Given the description of an element on the screen output the (x, y) to click on. 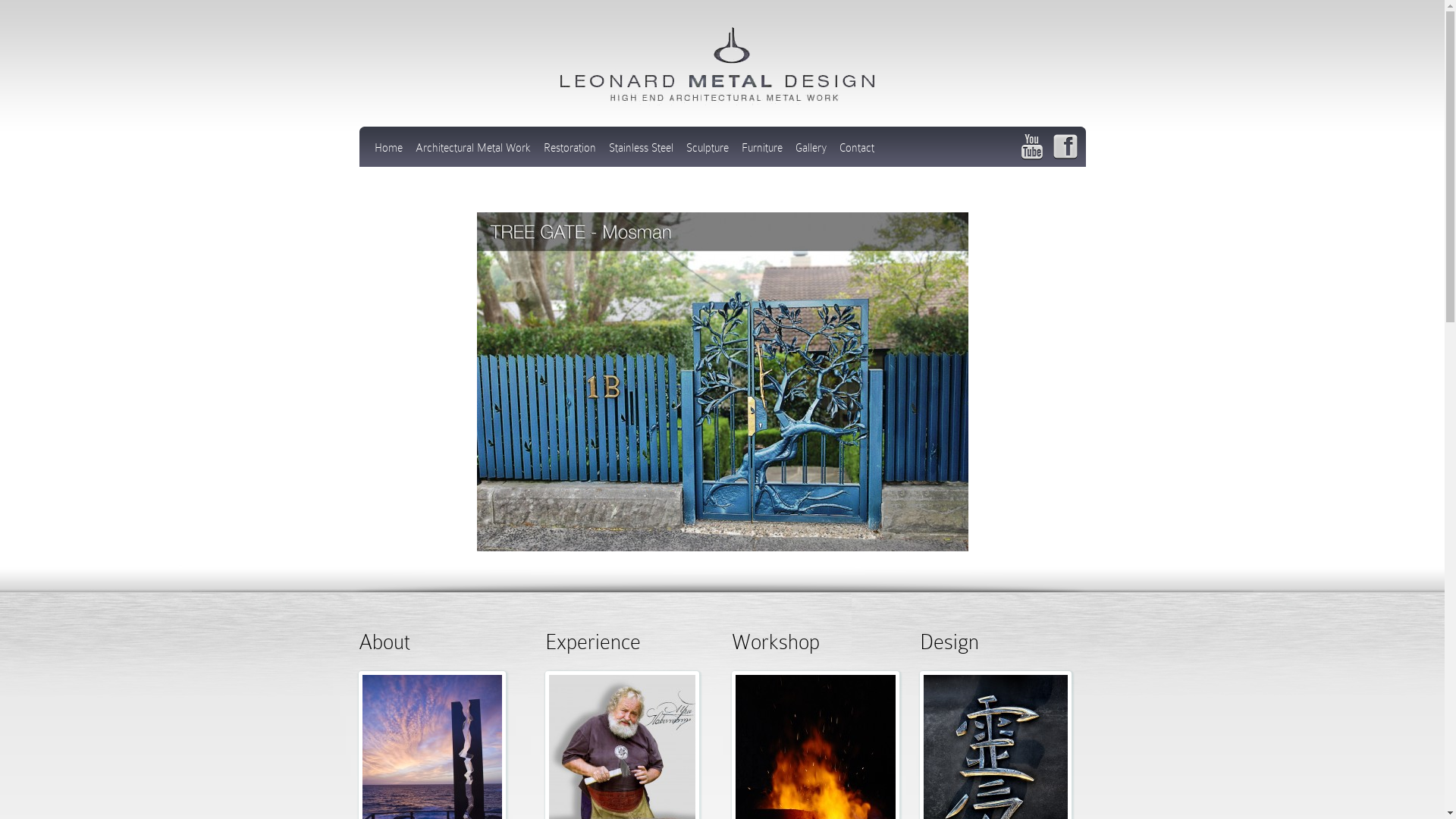
Restoration Element type: text (568, 153)
Architectural Metal Work Element type: text (472, 153)
Stainless Steel Element type: text (640, 153)
Home Element type: text (388, 153)
Sculpture Element type: text (706, 153)
Gallery Element type: text (809, 153)
Contact Element type: text (855, 153)
Furniture Element type: text (761, 153)
